Given the description of an element on the screen output the (x, y) to click on. 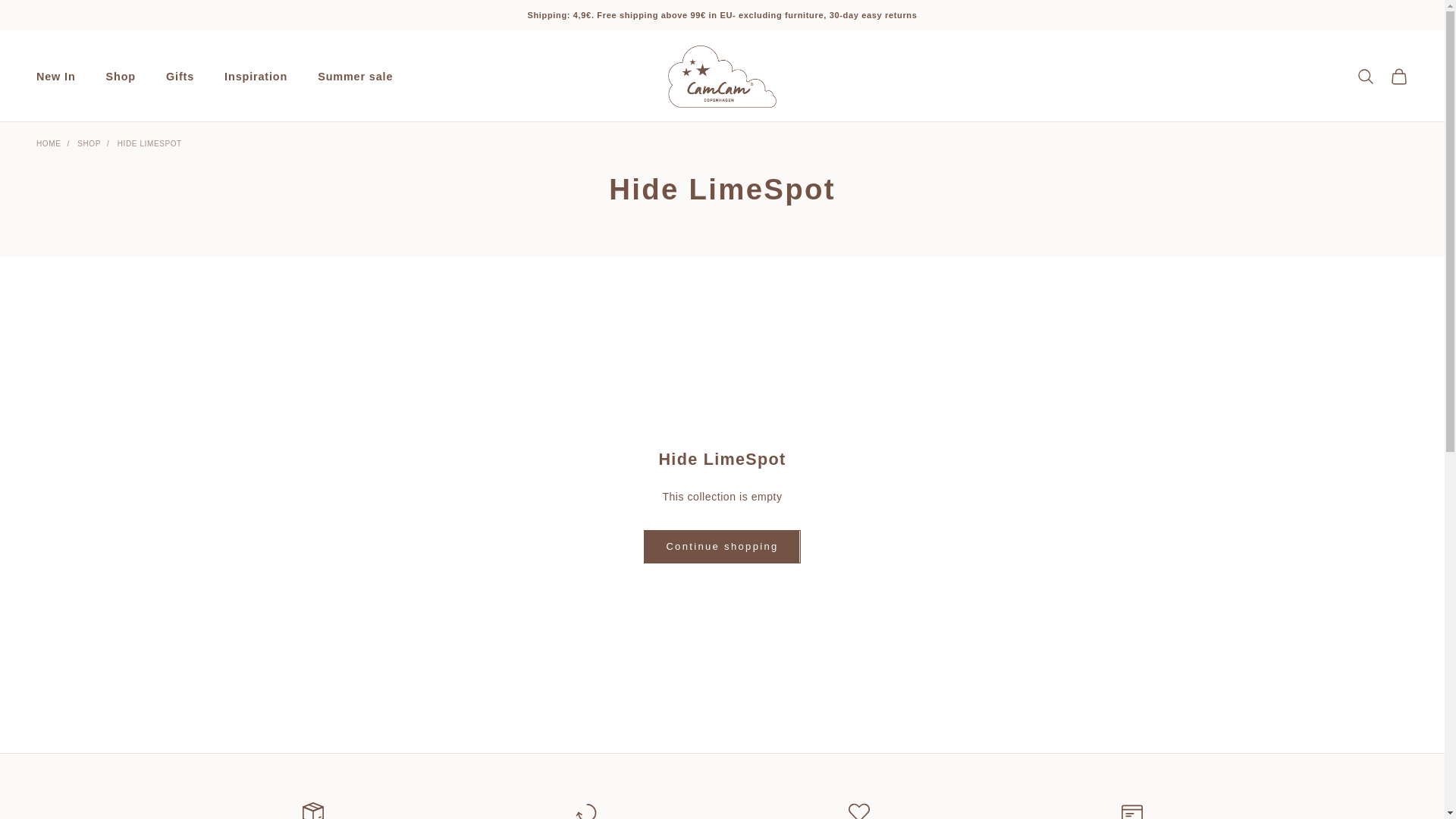
New In (55, 75)
camcamcopenhagen.com (721, 76)
